Given the description of an element on the screen output the (x, y) to click on. 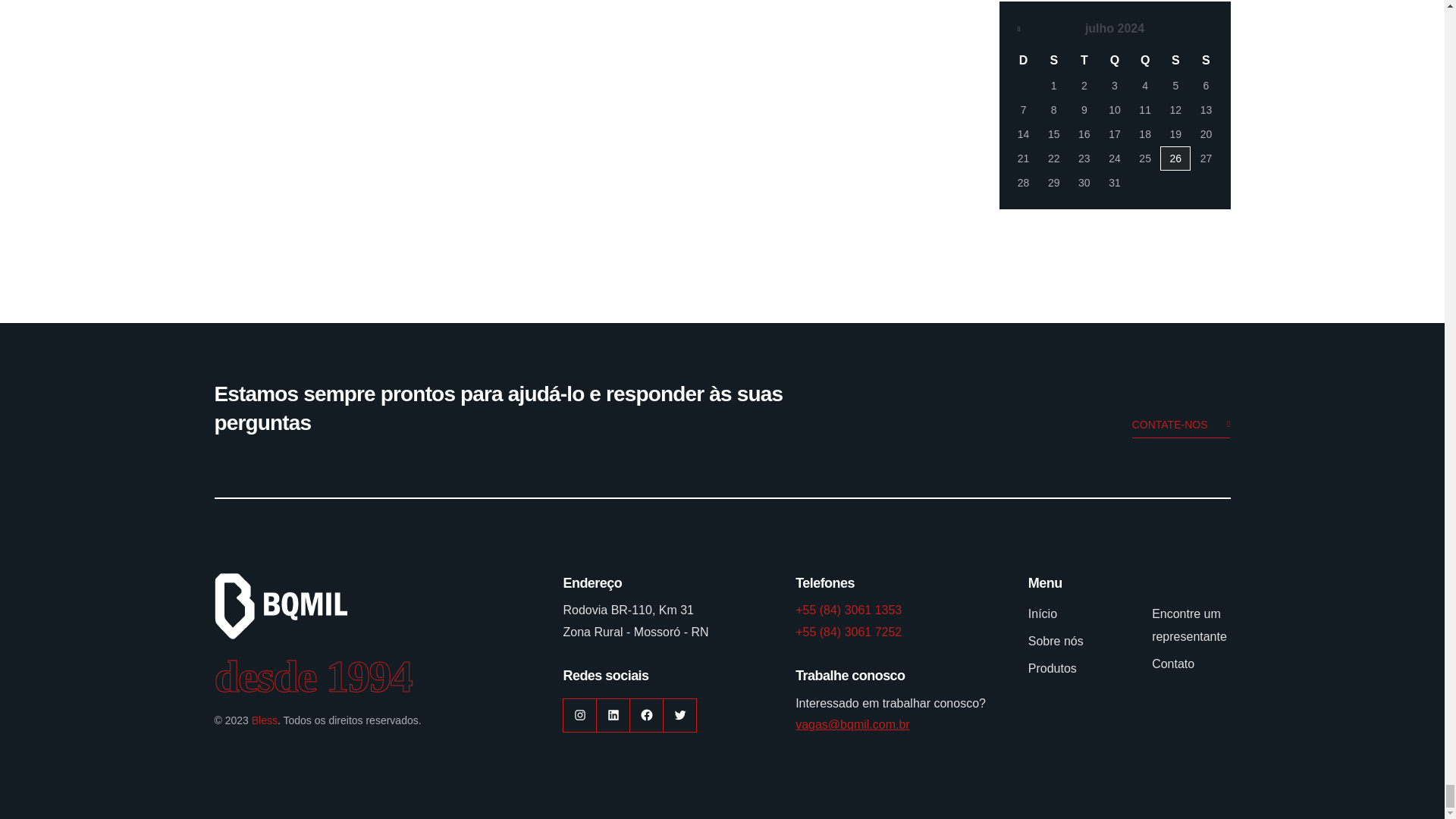
domingo (1024, 60)
segunda-feira (1053, 60)
